Given the description of an element on the screen output the (x, y) to click on. 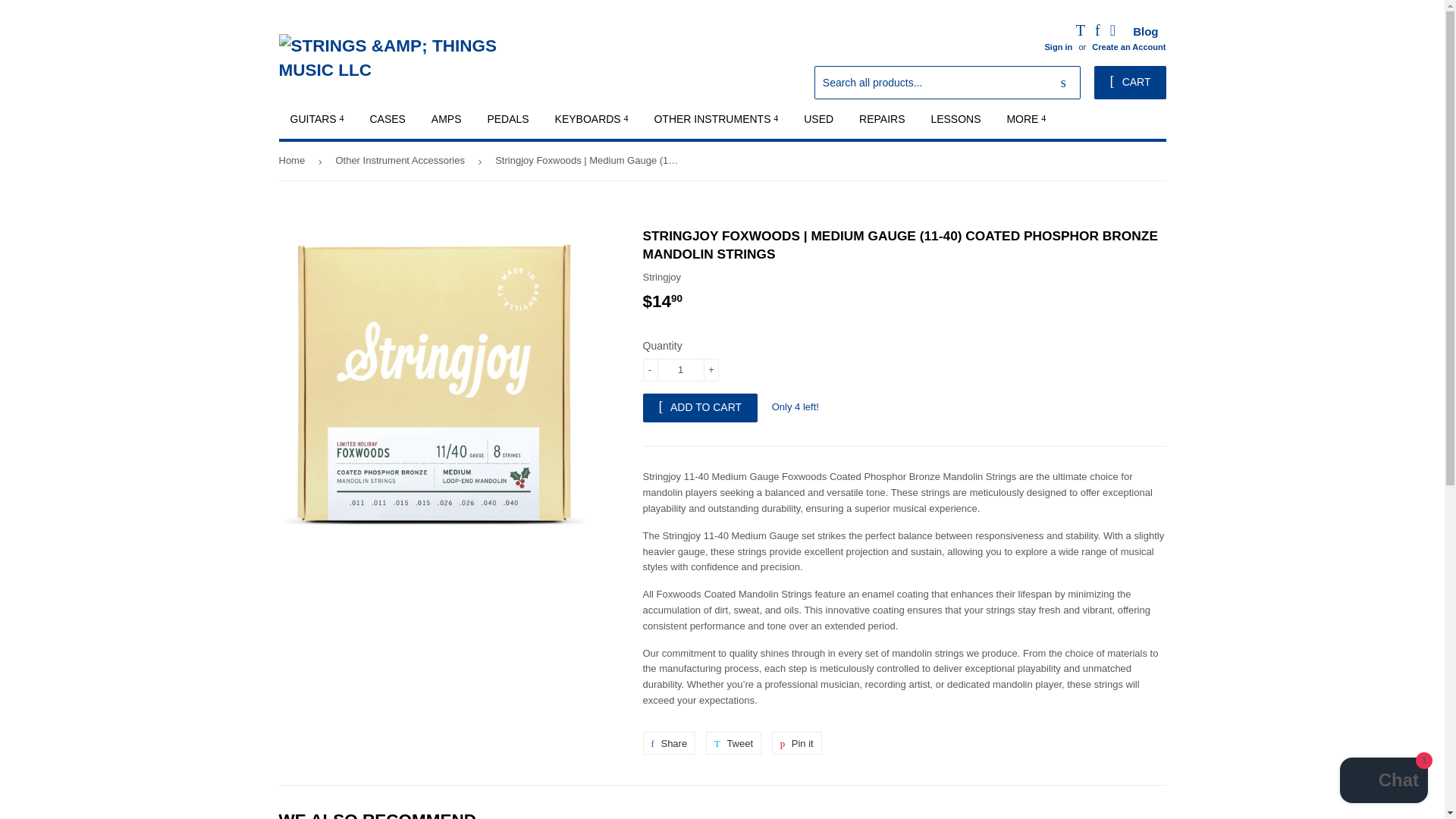
Shopify online store chat (1383, 781)
GUITARS (317, 118)
KEYBOARDS (591, 118)
REPAIRS (881, 118)
Create an Account (1129, 46)
Search (1063, 83)
CASES (387, 118)
MORE (1025, 118)
USED (818, 118)
Twitter (1079, 31)
PEDALS (508, 118)
Tweet on Twitter (733, 743)
1 (681, 369)
AMPS (446, 118)
OTHER INSTRUMENTS (715, 118)
